Given the description of an element on the screen output the (x, y) to click on. 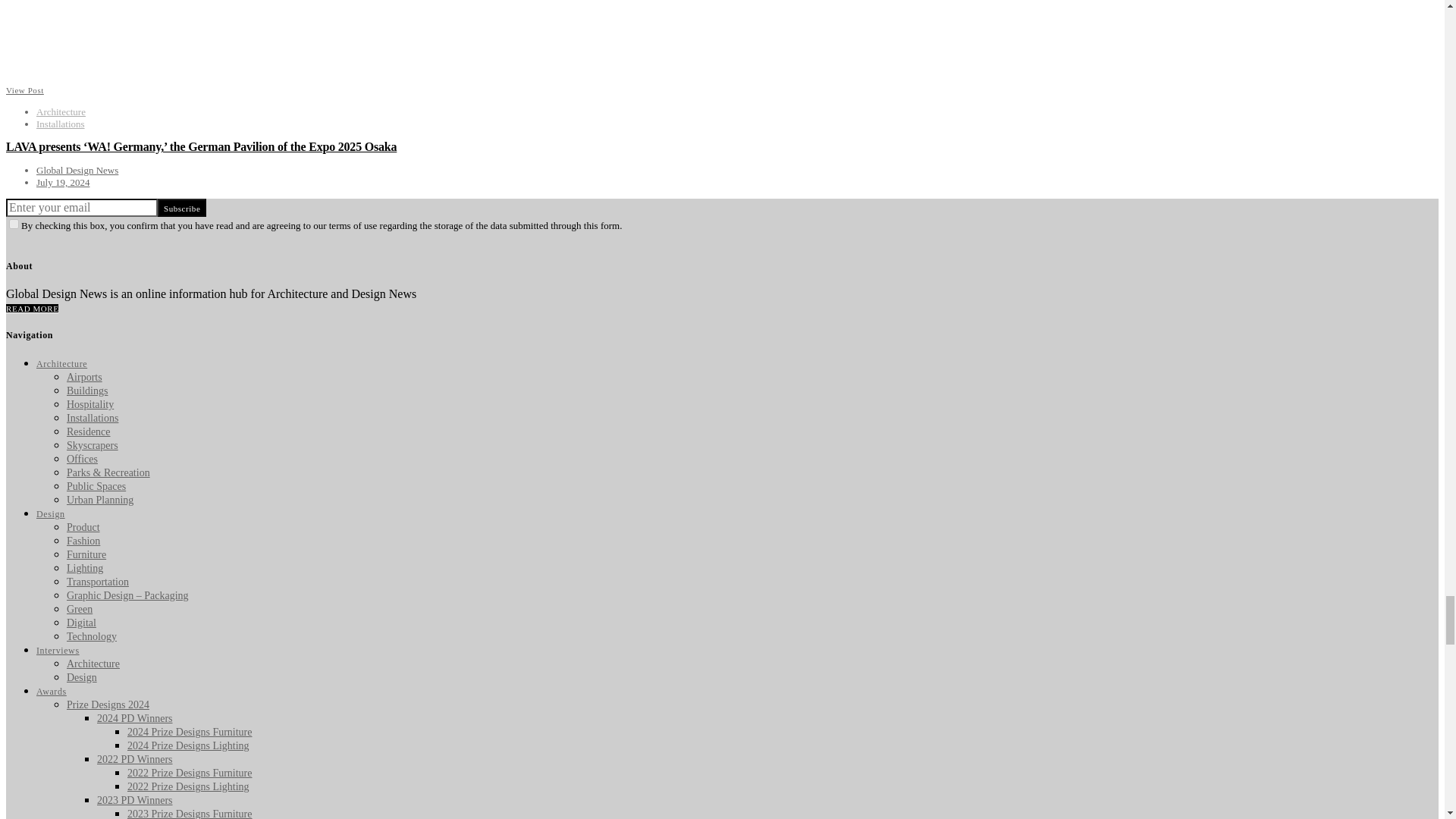
on (13, 224)
View all posts by Global Design News (76, 170)
